Given the description of an element on the screen output the (x, y) to click on. 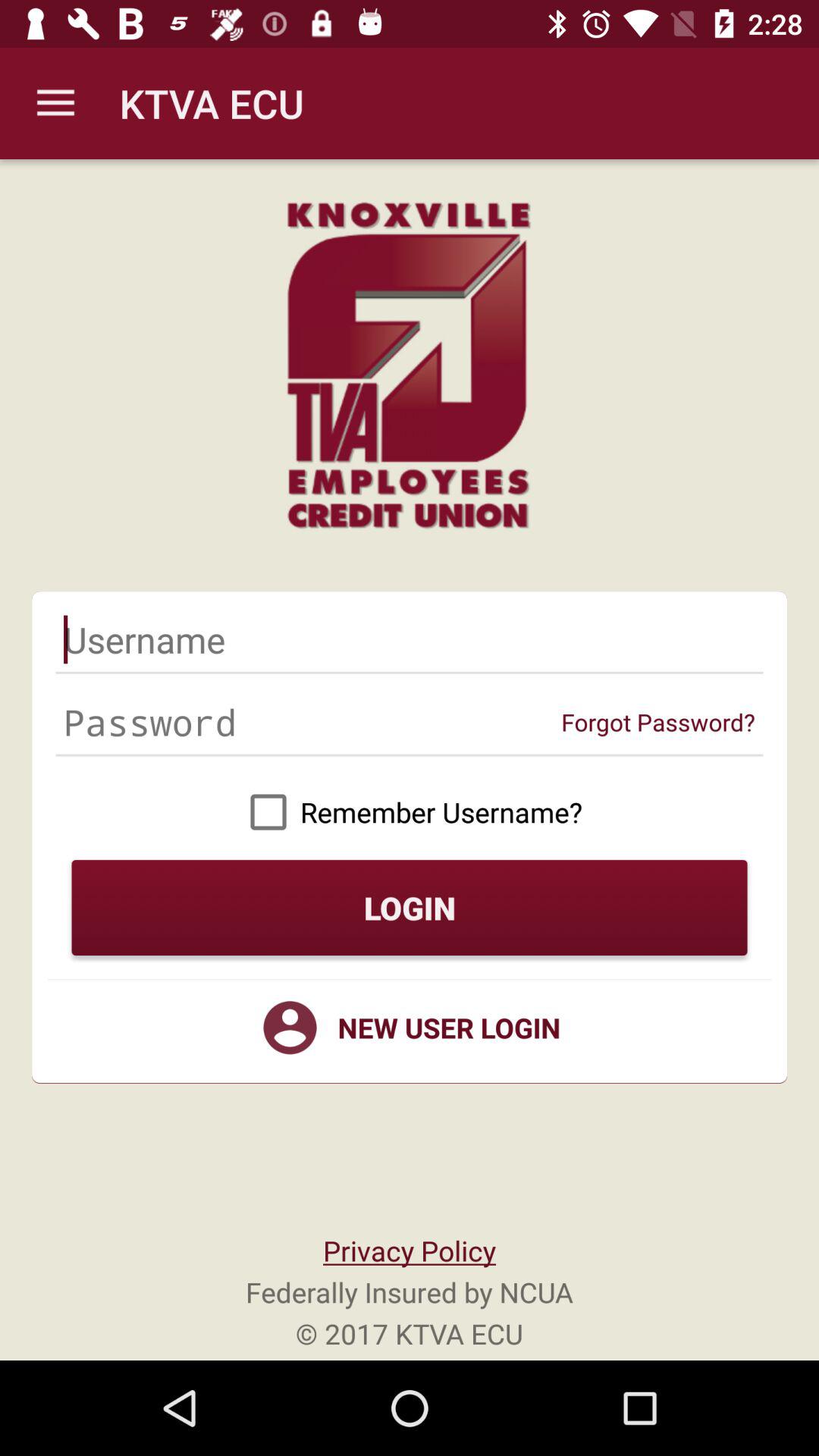
turn off remember username? (409, 812)
